Given the description of an element on the screen output the (x, y) to click on. 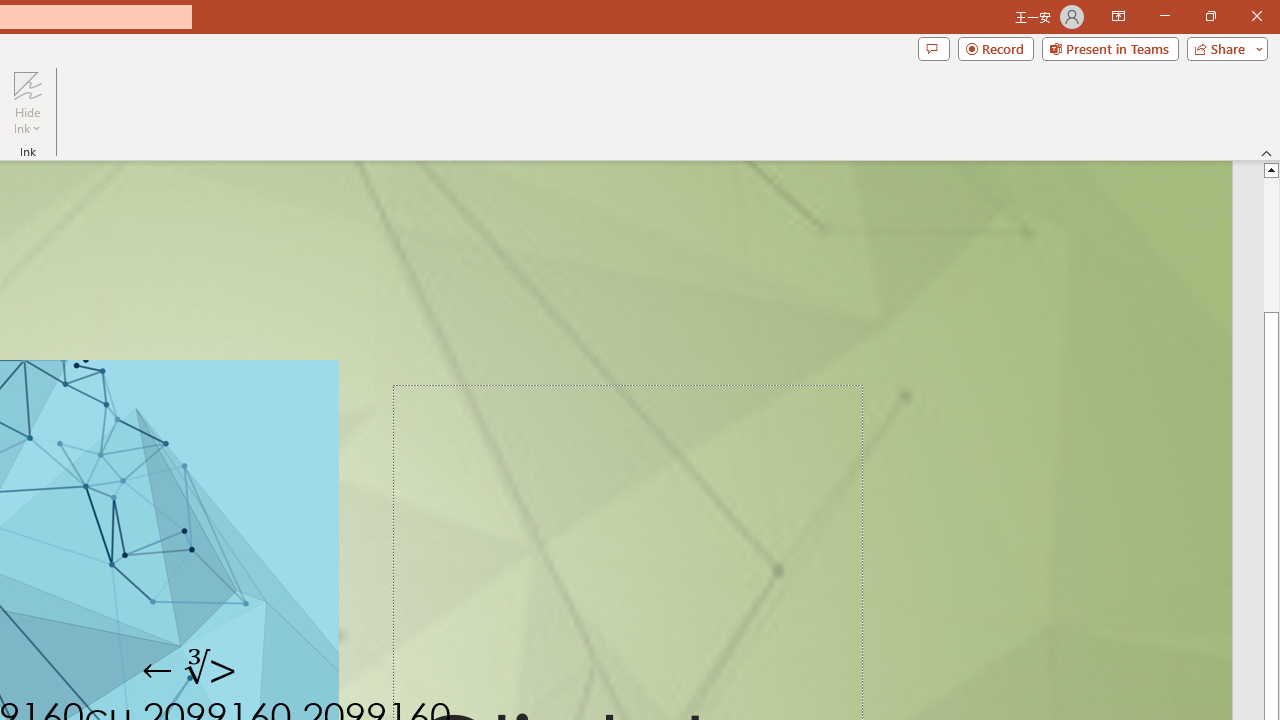
TextBox 7 (189, 669)
Hide Ink (27, 102)
Hide Ink (27, 84)
